Given the description of an element on the screen output the (x, y) to click on. 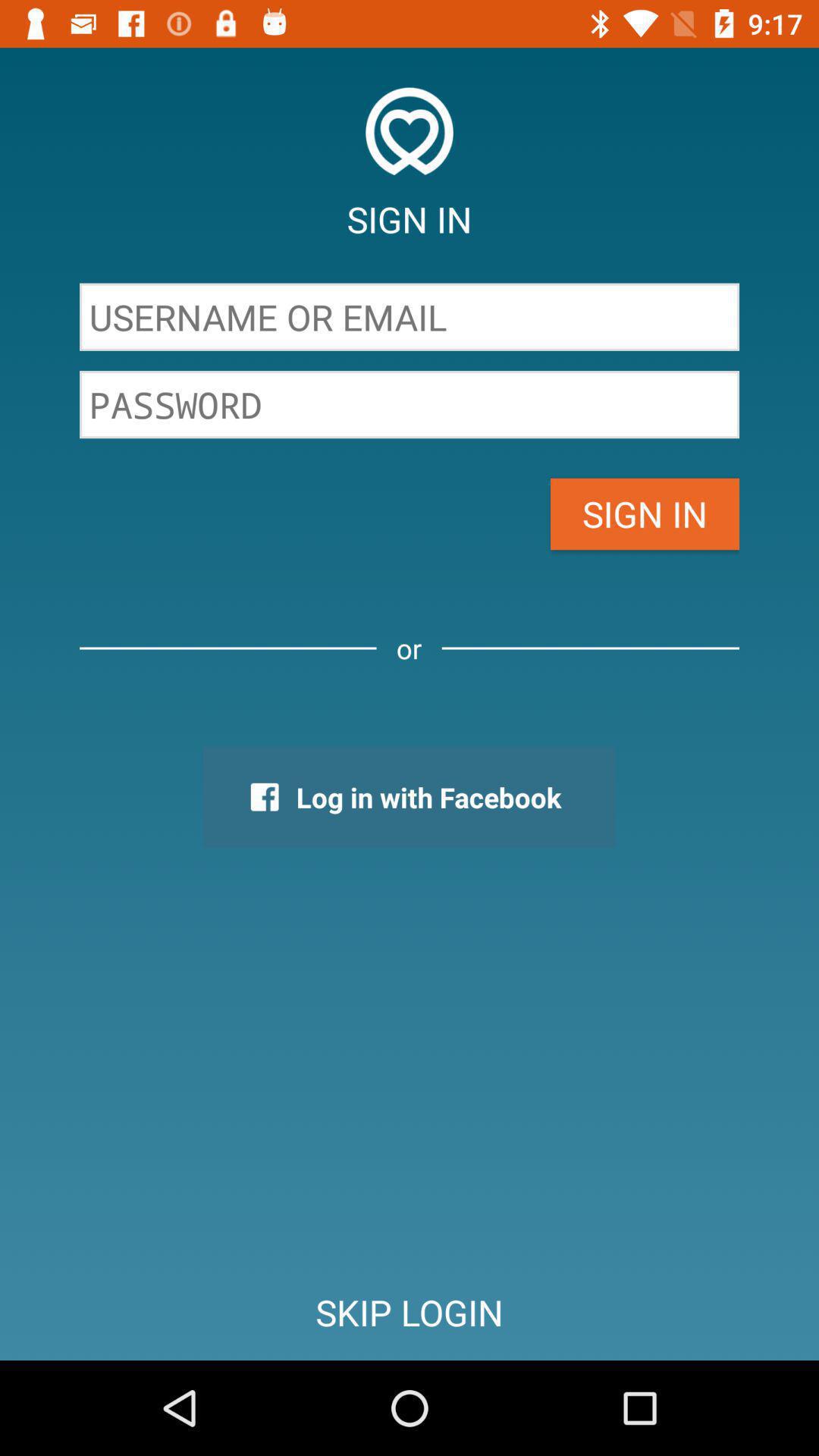
scroll to log in with (409, 797)
